Given the description of an element on the screen output the (x, y) to click on. 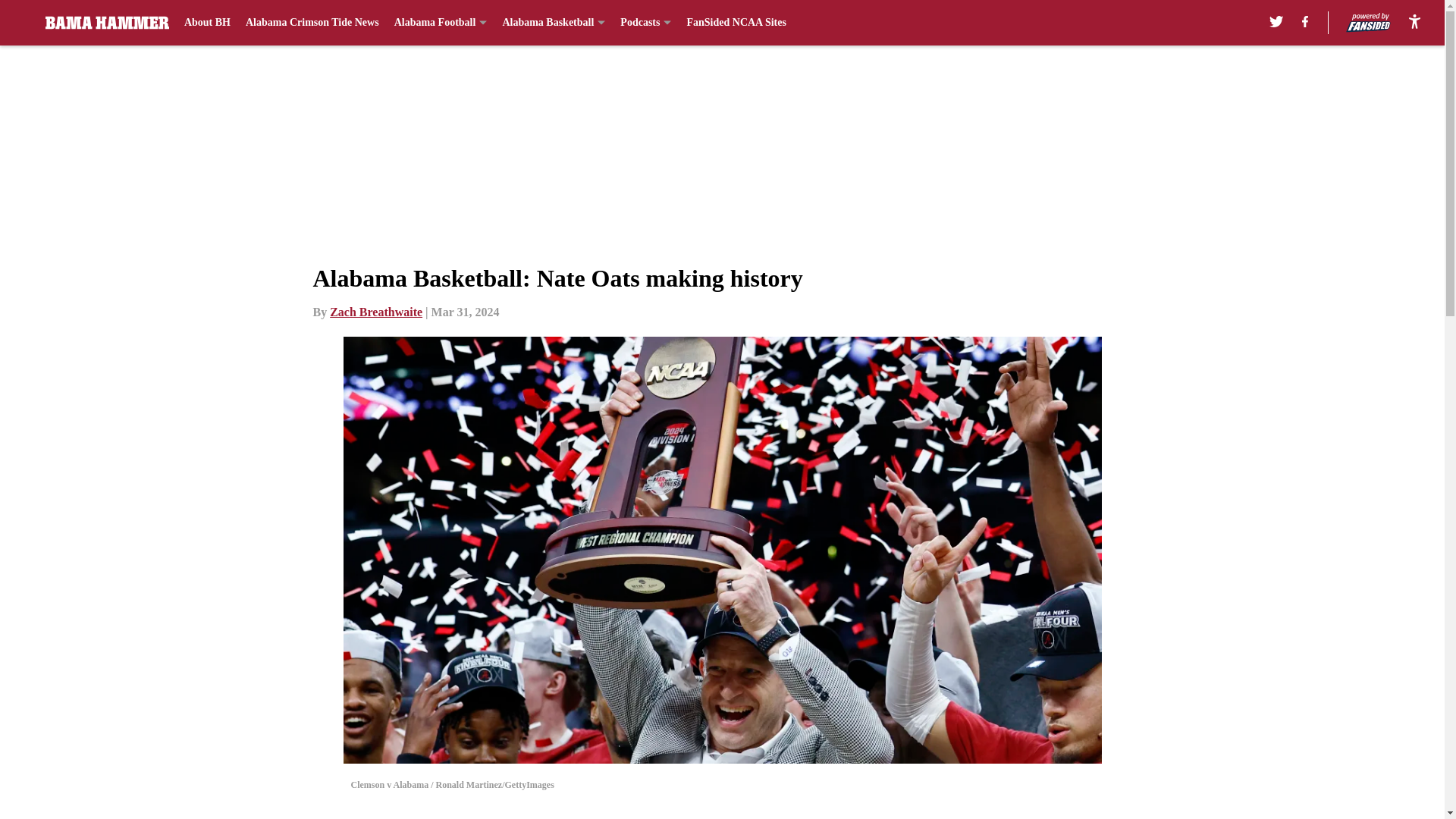
Alabama Crimson Tide News (312, 22)
FanSided NCAA Sites (735, 22)
About BH (207, 22)
Zach Breathwaite (376, 311)
